Given the description of an element on the screen output the (x, y) to click on. 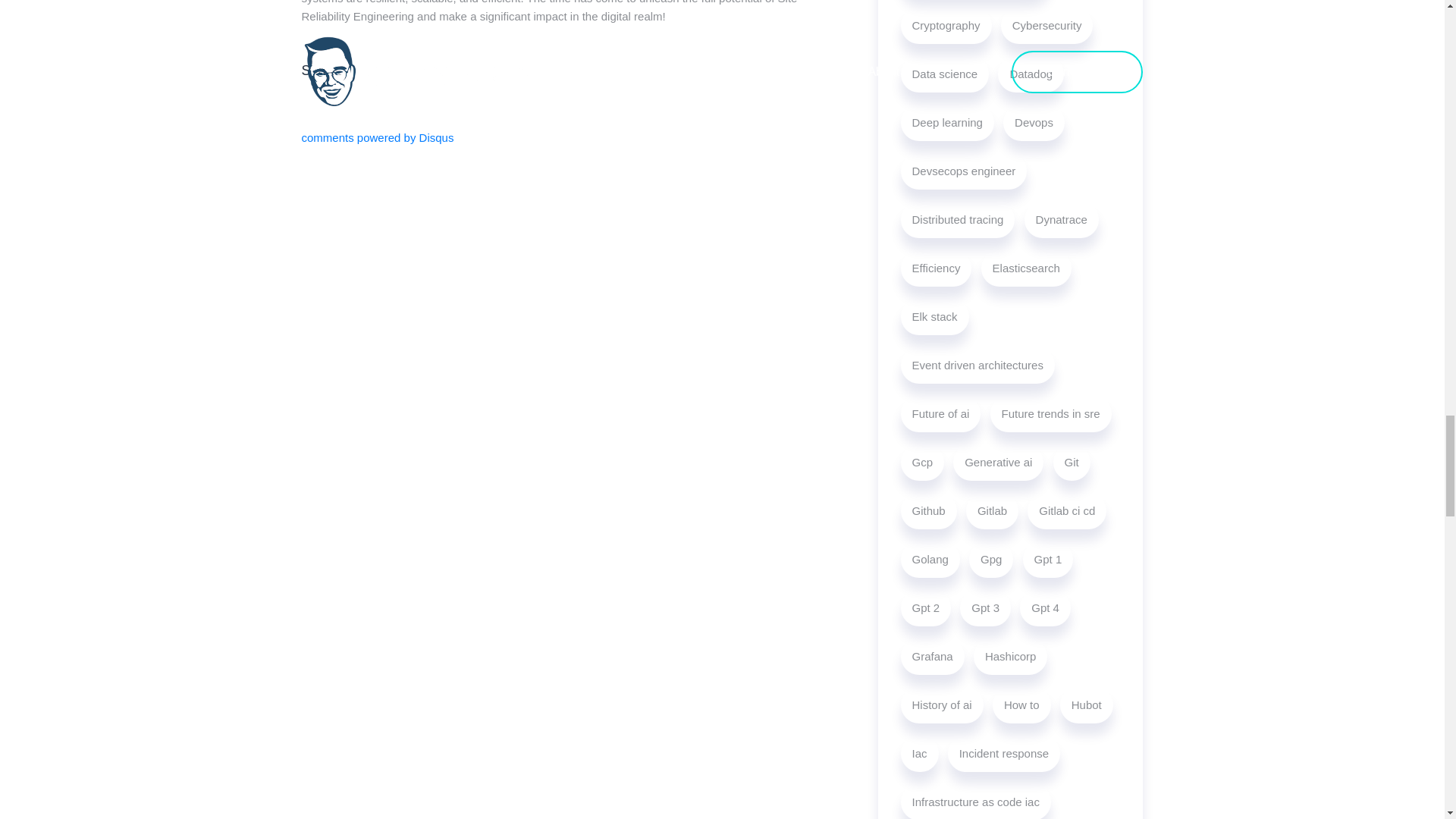
comments powered by Disqus (377, 137)
